Given the description of an element on the screen output the (x, y) to click on. 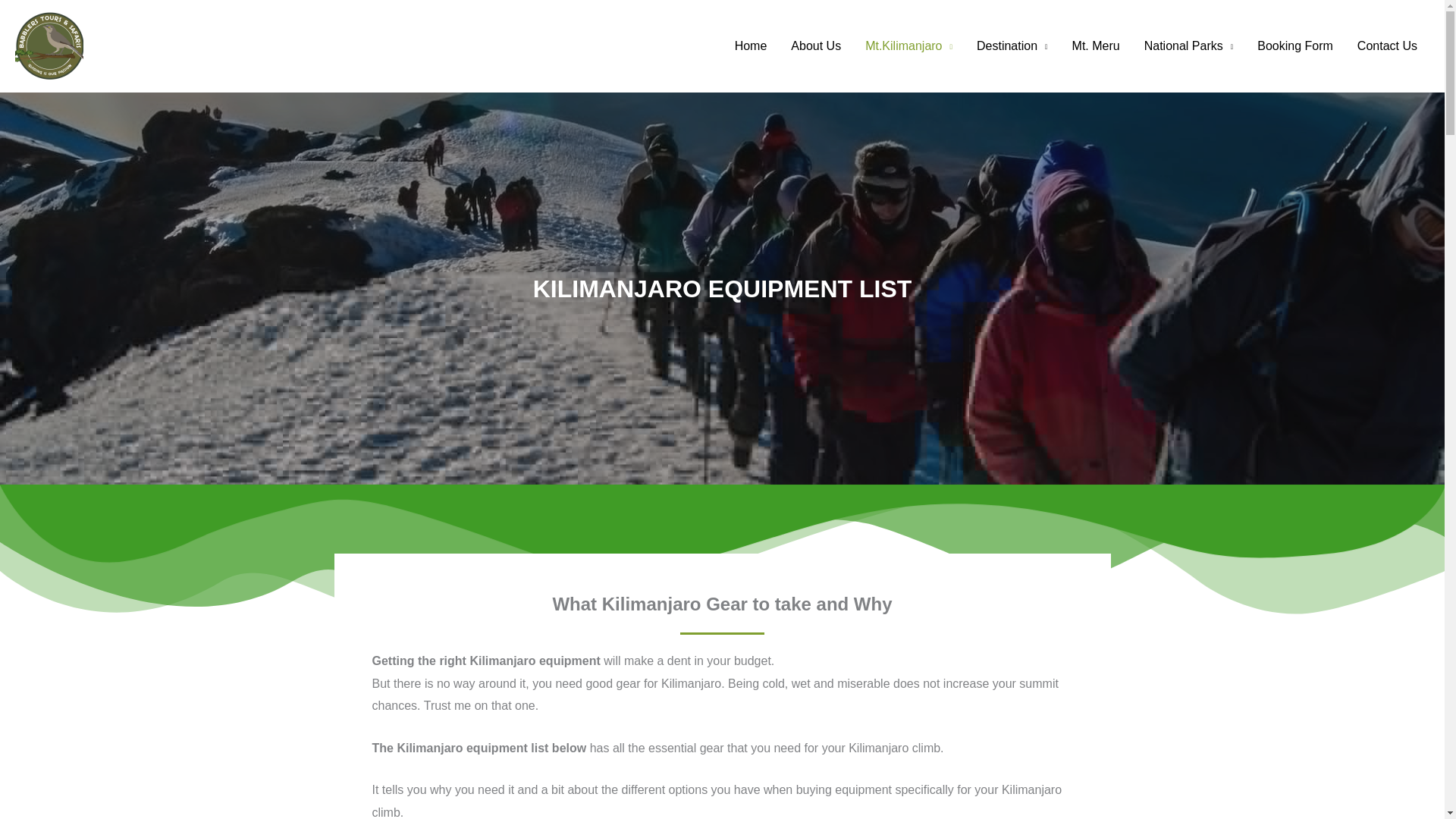
National Parks (1189, 46)
Mt. Meru (1095, 46)
Mt.Kilimanjaro (908, 46)
About Us (815, 46)
Home (750, 46)
Destination (1011, 46)
